Given the description of an element on the screen output the (x, y) to click on. 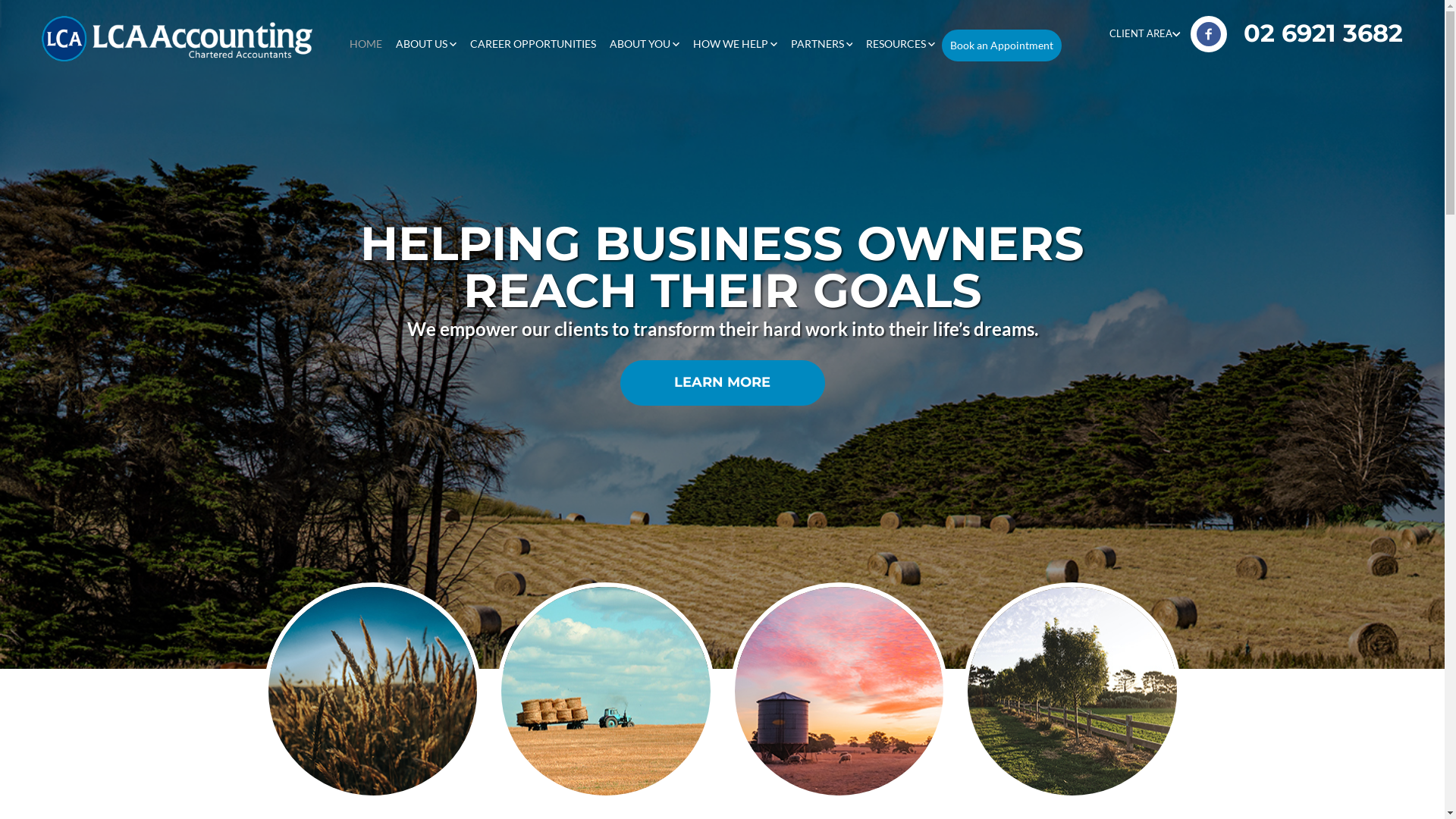
ABOUT YOU  Element type: text (644, 43)
Book an Appointment Element type: text (1001, 45)
HOME Element type: text (365, 43)
HOW WE HELP  Element type: text (735, 43)
ABOUT US  Element type: text (426, 43)
RESOURCES  Element type: text (900, 43)
02 6921 3682 Element type: text (1322, 32)
PARTNERS  Element type: text (821, 43)
CLIENT AREA Element type: text (1144, 33)
LEARN MORE Element type: text (722, 382)
CAREER OPPORTUNITIES Element type: text (532, 43)
